Given the description of an element on the screen output the (x, y) to click on. 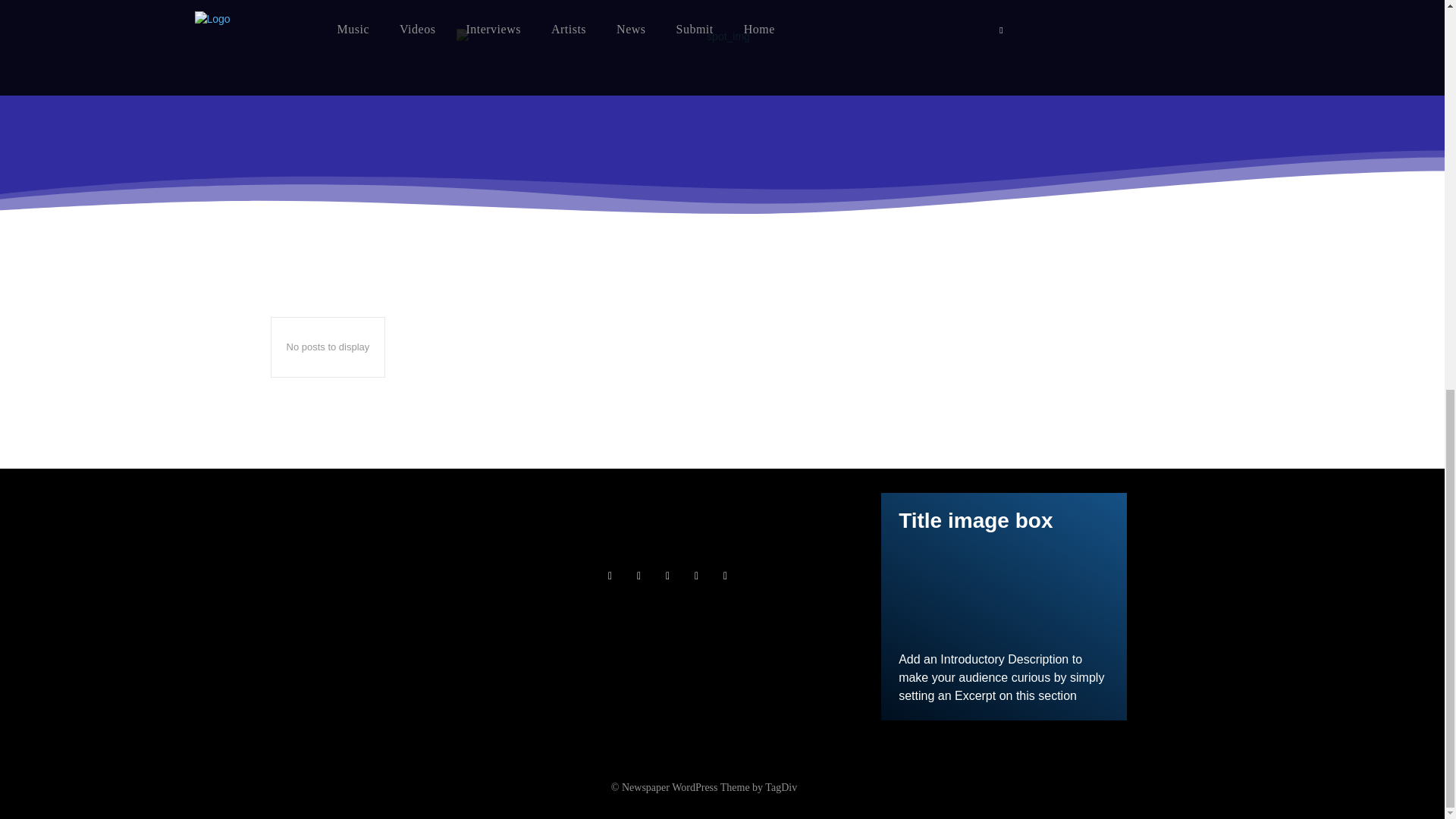
TikTok (667, 575)
Instagram (638, 575)
Facebook (609, 575)
